Given the description of an element on the screen output the (x, y) to click on. 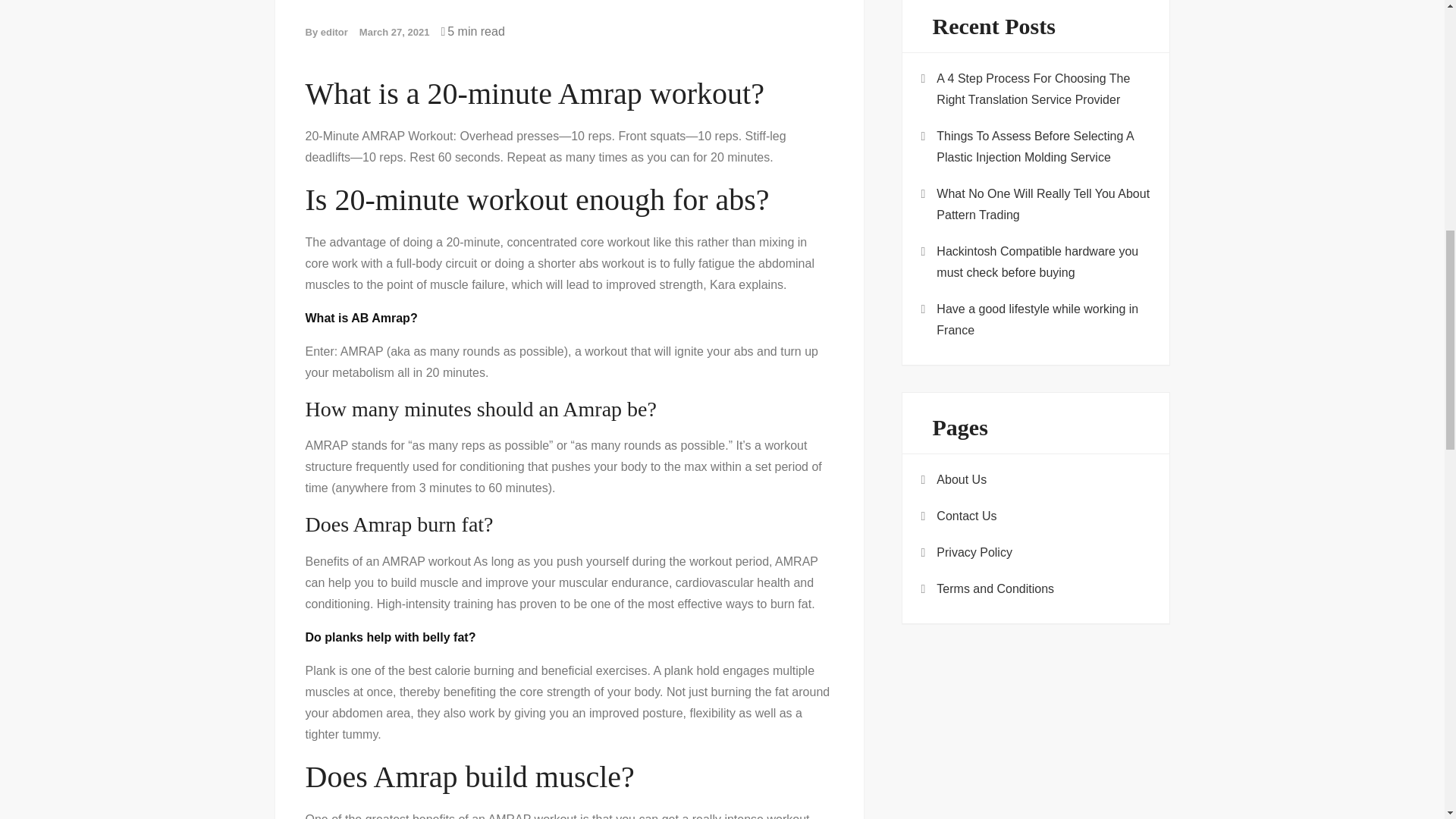
What No One Will Really Tell You About Pattern Trading (1043, 204)
Privacy Policy (973, 552)
Have a good lifestyle while working in France (1043, 319)
March 27, 2021 (394, 31)
editor (333, 31)
About Us (961, 479)
Hackintosh Compatible hardware you must check before buying (1043, 261)
Contact Us (965, 516)
Terms and Conditions (995, 588)
